Given the description of an element on the screen output the (x, y) to click on. 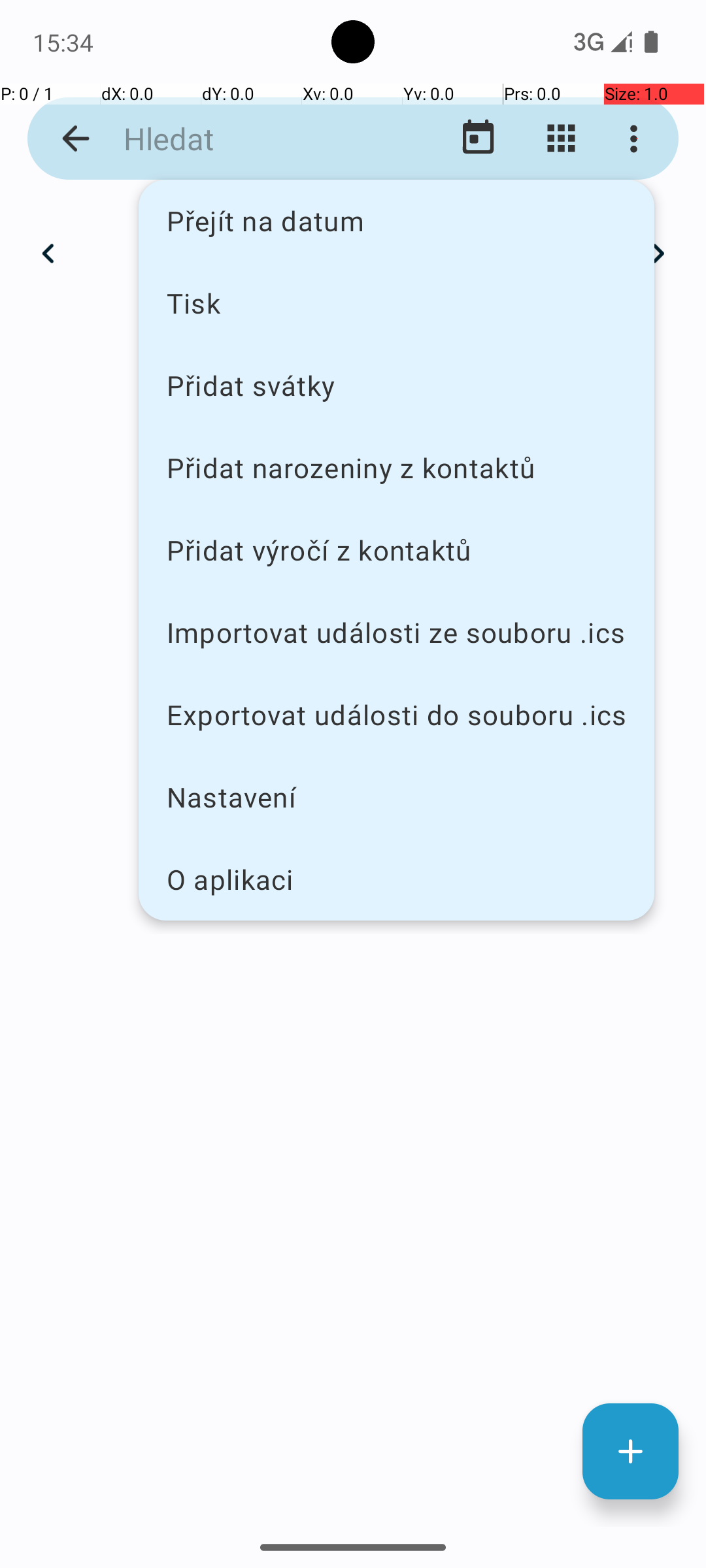
Přejít na datum Element type: android.widget.TextView (396, 220)
Tisk Element type: android.widget.TextView (396, 302)
Přidat svátky Element type: android.widget.TextView (396, 384)
Přidat narozeniny z kontaktů Element type: android.widget.TextView (396, 467)
Přidat výročí z kontaktů Element type: android.widget.TextView (396, 549)
Importovat události ze souboru .ics Element type: android.widget.TextView (396, 631)
Exportovat události do souboru .ics Element type: android.widget.TextView (396, 714)
O aplikaci Element type: android.widget.TextView (396, 878)
